Given the description of an element on the screen output the (x, y) to click on. 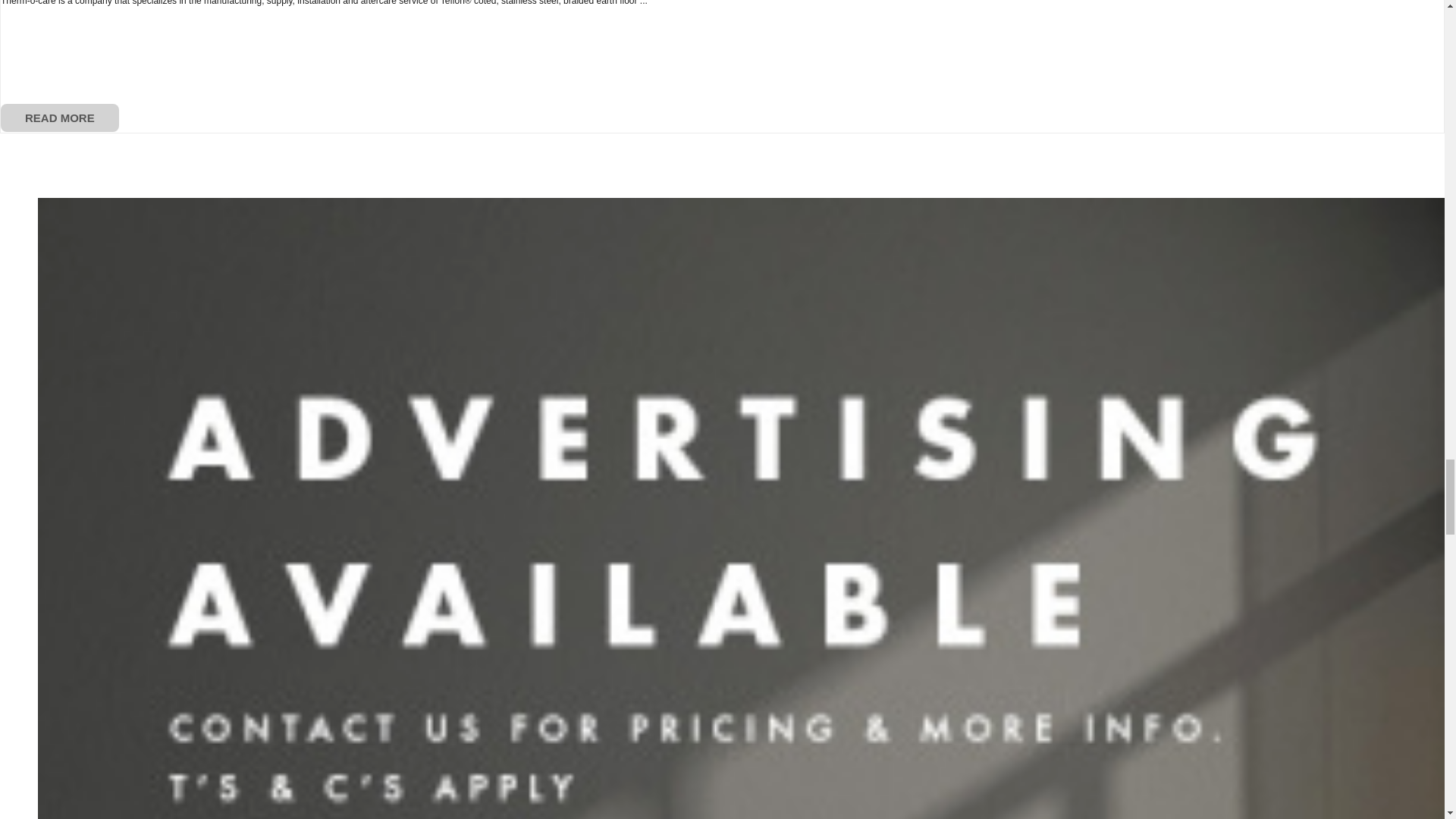
READ MORE (60, 117)
